Given the description of an element on the screen output the (x, y) to click on. 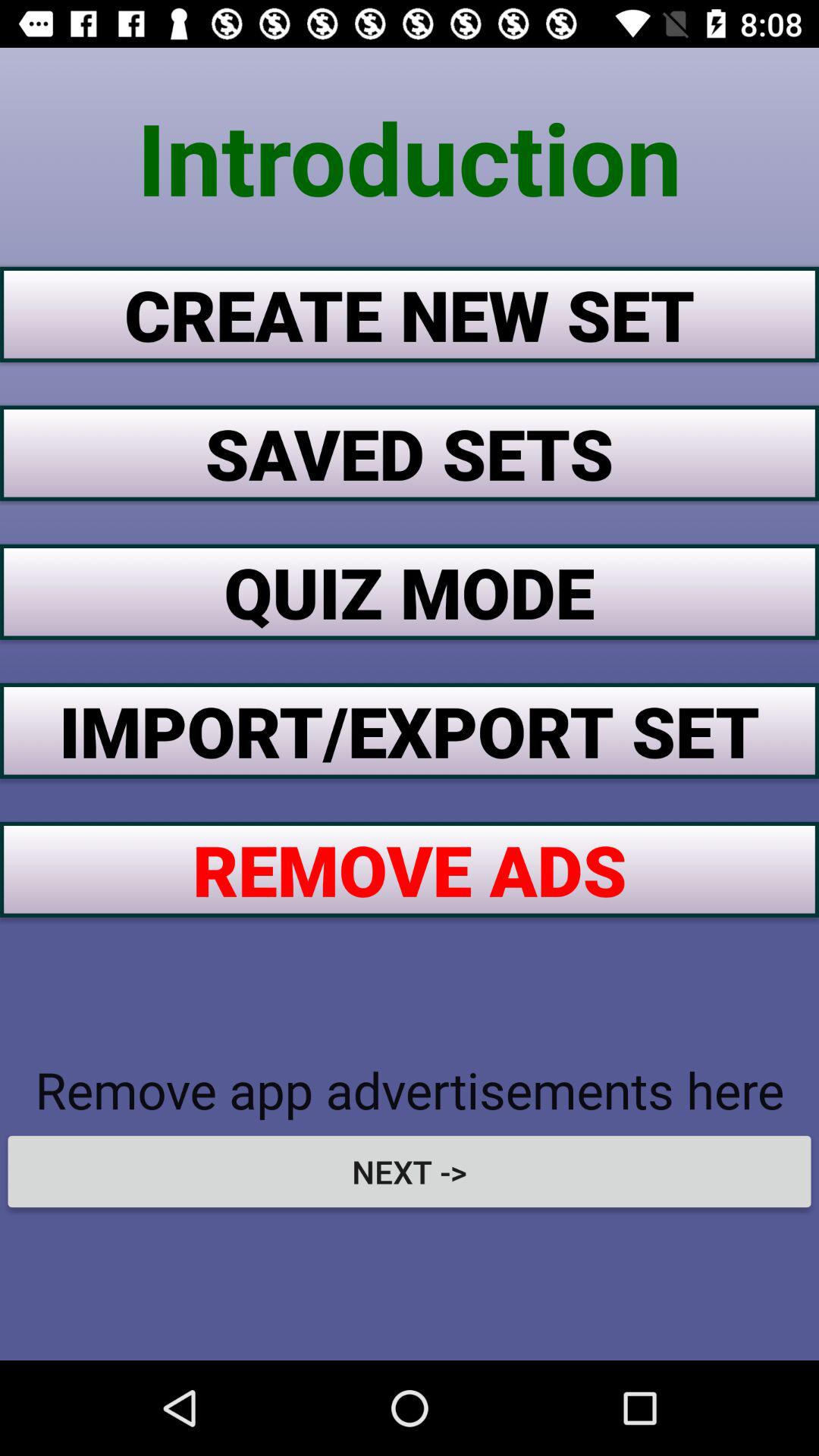
select the quiz mode item (409, 591)
